Given the description of an element on the screen output the (x, y) to click on. 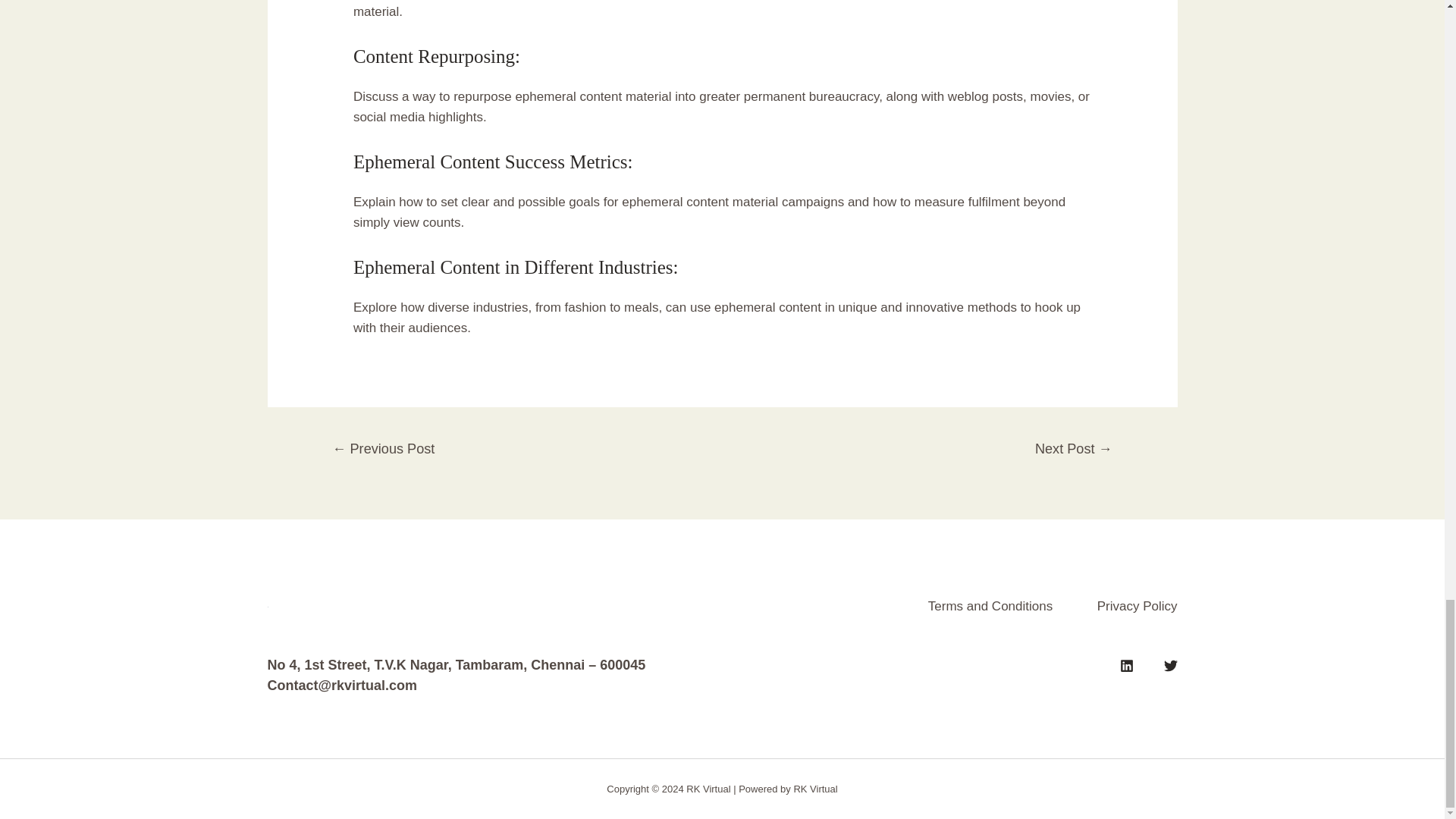
Privacy Policy (1118, 606)
AI in Finance: Transforming Money Management (382, 450)
Terms and Conditions (974, 606)
